Given the description of an element on the screen output the (x, y) to click on. 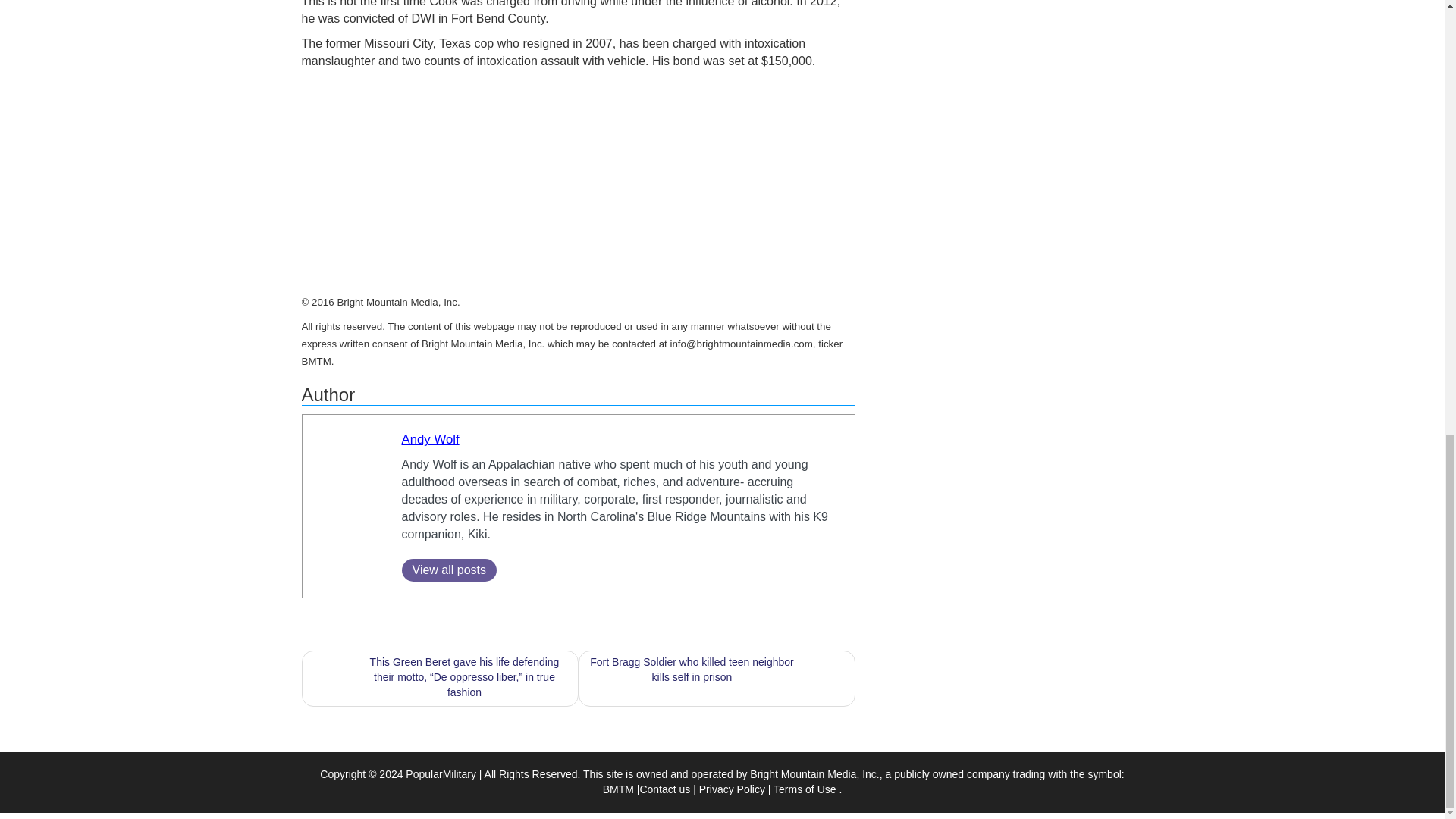
BMTM (617, 788)
Contact us (664, 788)
Privacy Policy (731, 788)
View all posts (449, 569)
Terms of Use (805, 788)
Andy Wolf (430, 439)
View all posts (449, 569)
Andy Wolf (430, 439)
